Given the description of an element on the screen output the (x, y) to click on. 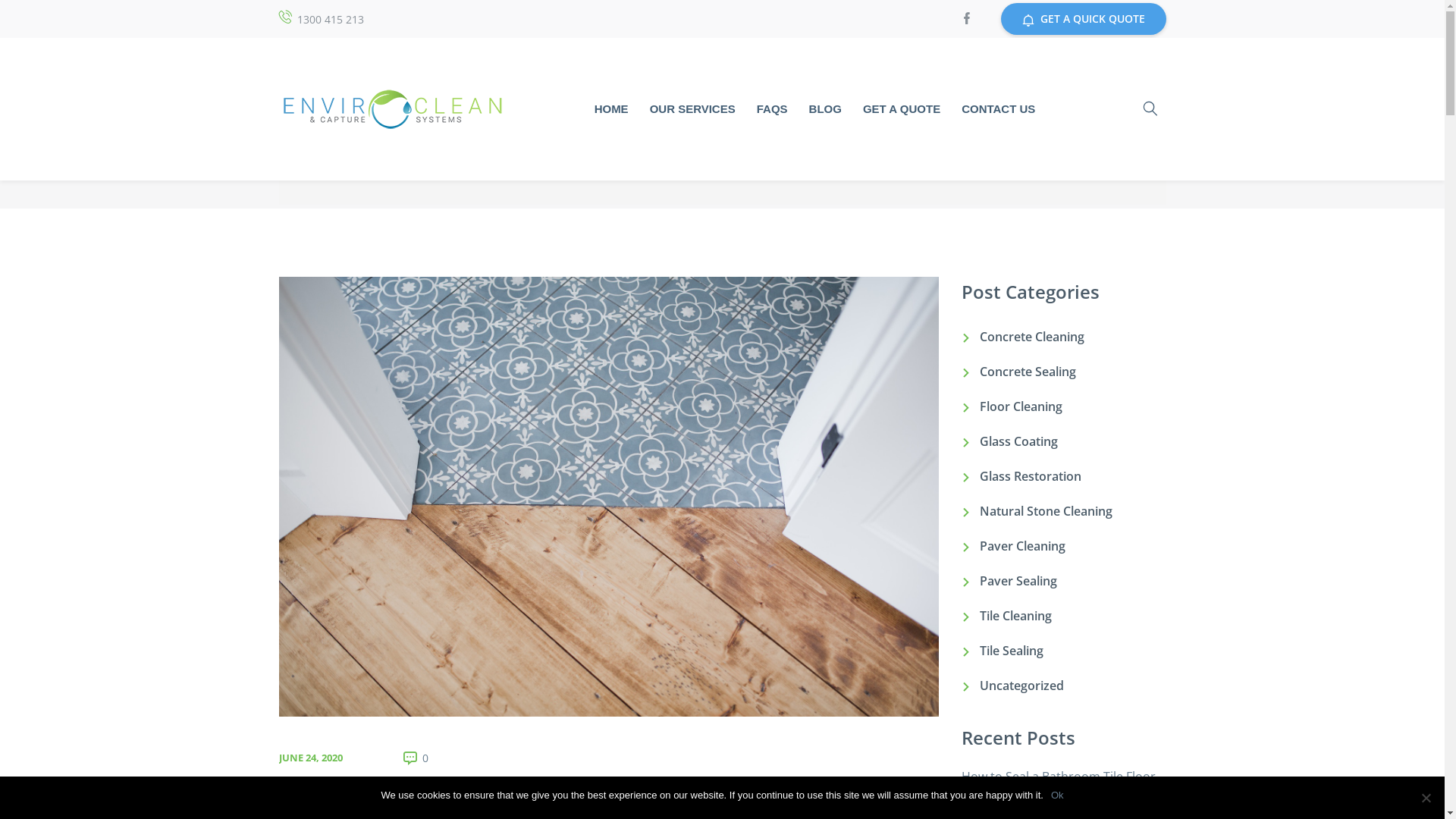
No Element type: hover (1425, 797)
Concrete Cleaning Element type: text (1031, 336)
Glass Coating Element type: text (1018, 440)
GET A QUICK QUOTE Element type: text (1083, 18)
OUR SERVICES Element type: text (692, 109)
Tile Cleaning Element type: text (1015, 615)
JUNE 24, 2020 Element type: text (310, 757)
Paver Sealing Element type: text (1018, 580)
Uncategorized Element type: text (1021, 685)
Glass Restoration Element type: text (1030, 475)
Tile Sealing Element type: text (1011, 650)
How to Seal a Bathroom Tile Floor Element type: text (1058, 776)
CONTACT US Element type: text (998, 109)
HOME Element type: text (611, 109)
Natural Stone Cleaning Element type: text (1045, 510)
1300 415 213 Element type: text (330, 19)
Floor Cleaning Element type: text (1020, 406)
Paver Cleaning Element type: text (1022, 545)
Concrete Sealing Element type: text (1027, 371)
Ok Element type: text (1057, 795)
BLOG Element type: text (825, 109)
GET A QUOTE Element type: text (901, 109)
FAQS Element type: text (772, 109)
